Given the description of an element on the screen output the (x, y) to click on. 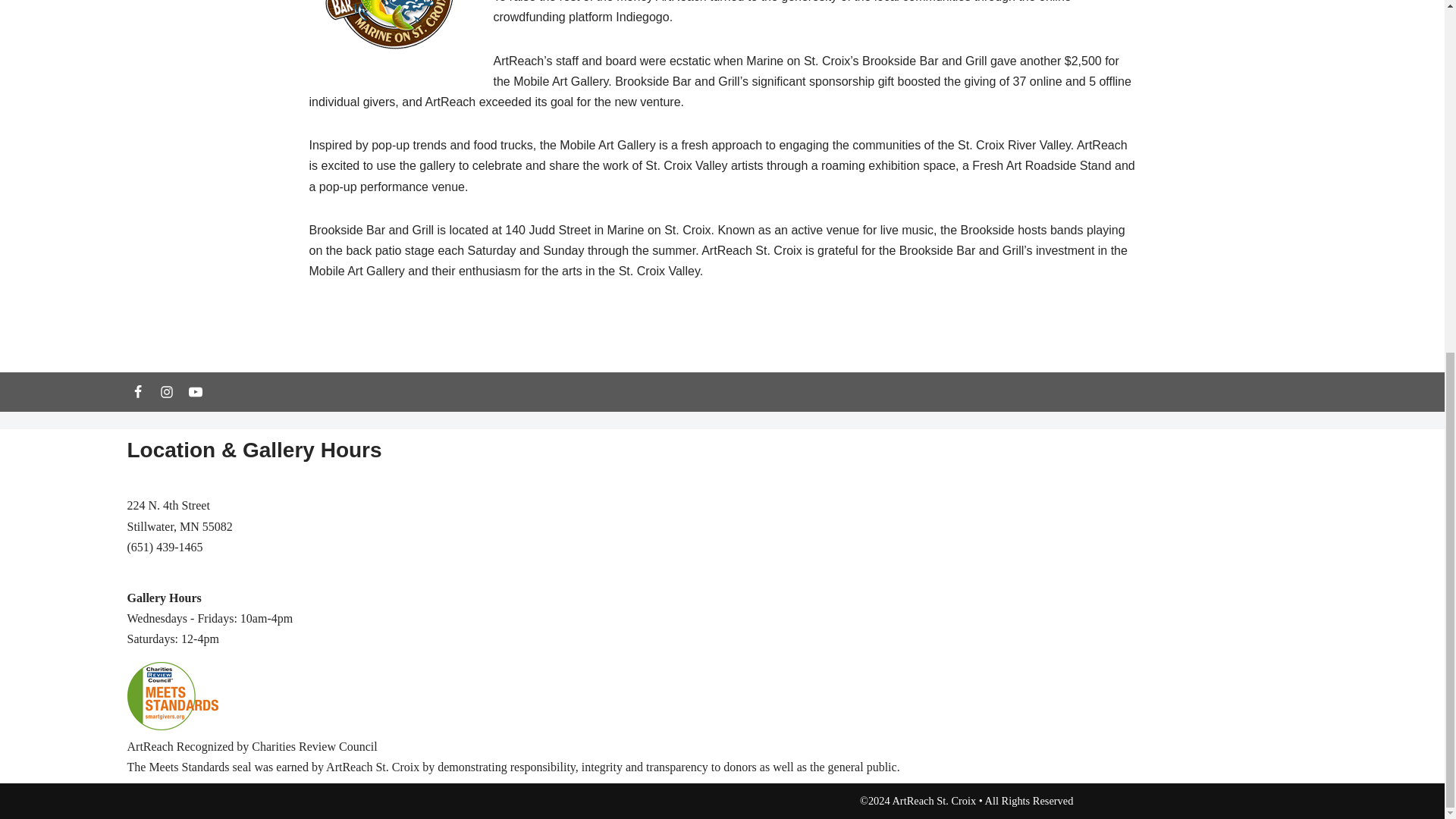
Youtube (195, 391)
Instagram (166, 391)
Facebook (138, 391)
